Given the description of an element on the screen output the (x, y) to click on. 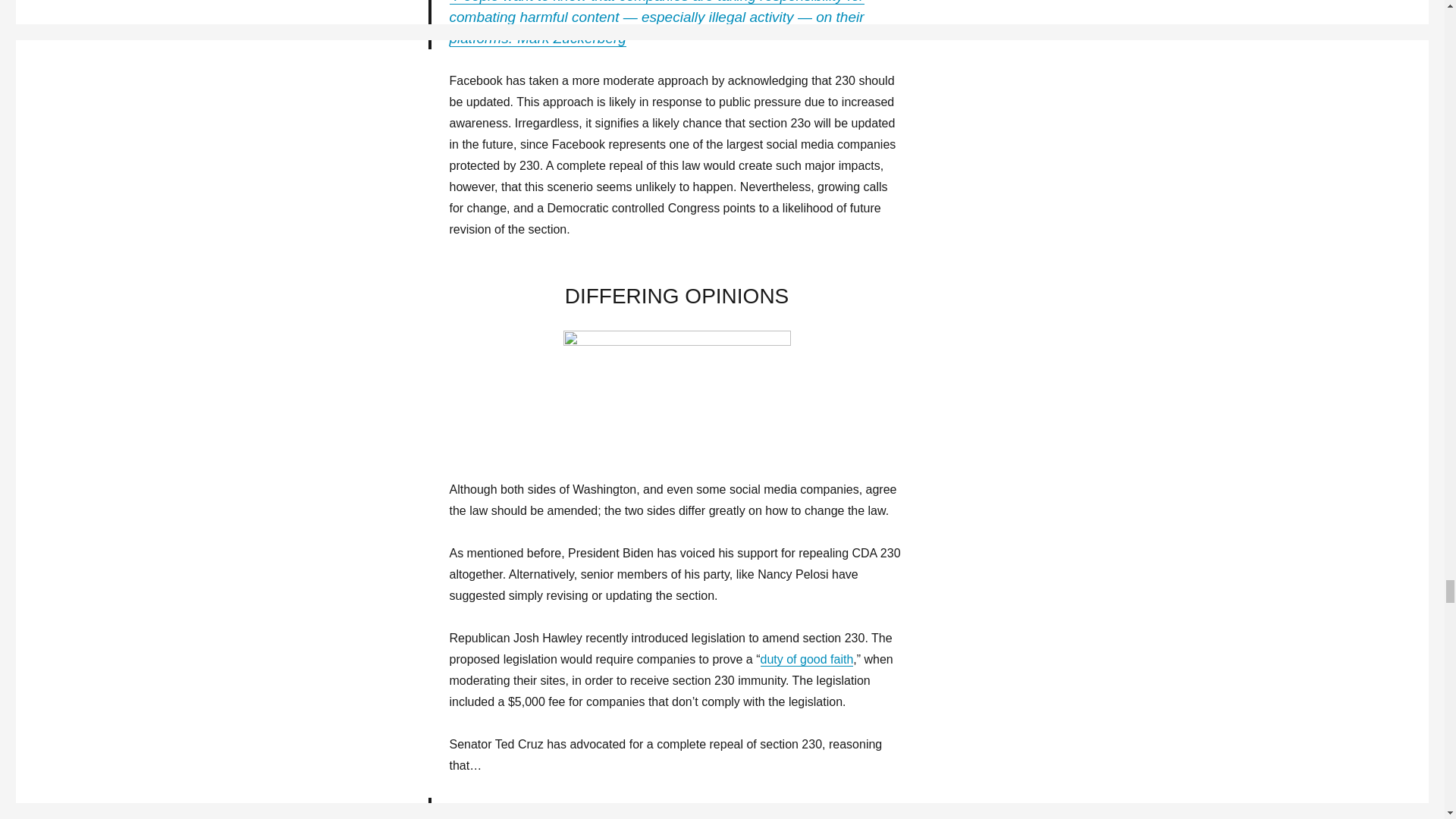
Page 17 (676, 776)
